Given the description of an element on the screen output the (x, y) to click on. 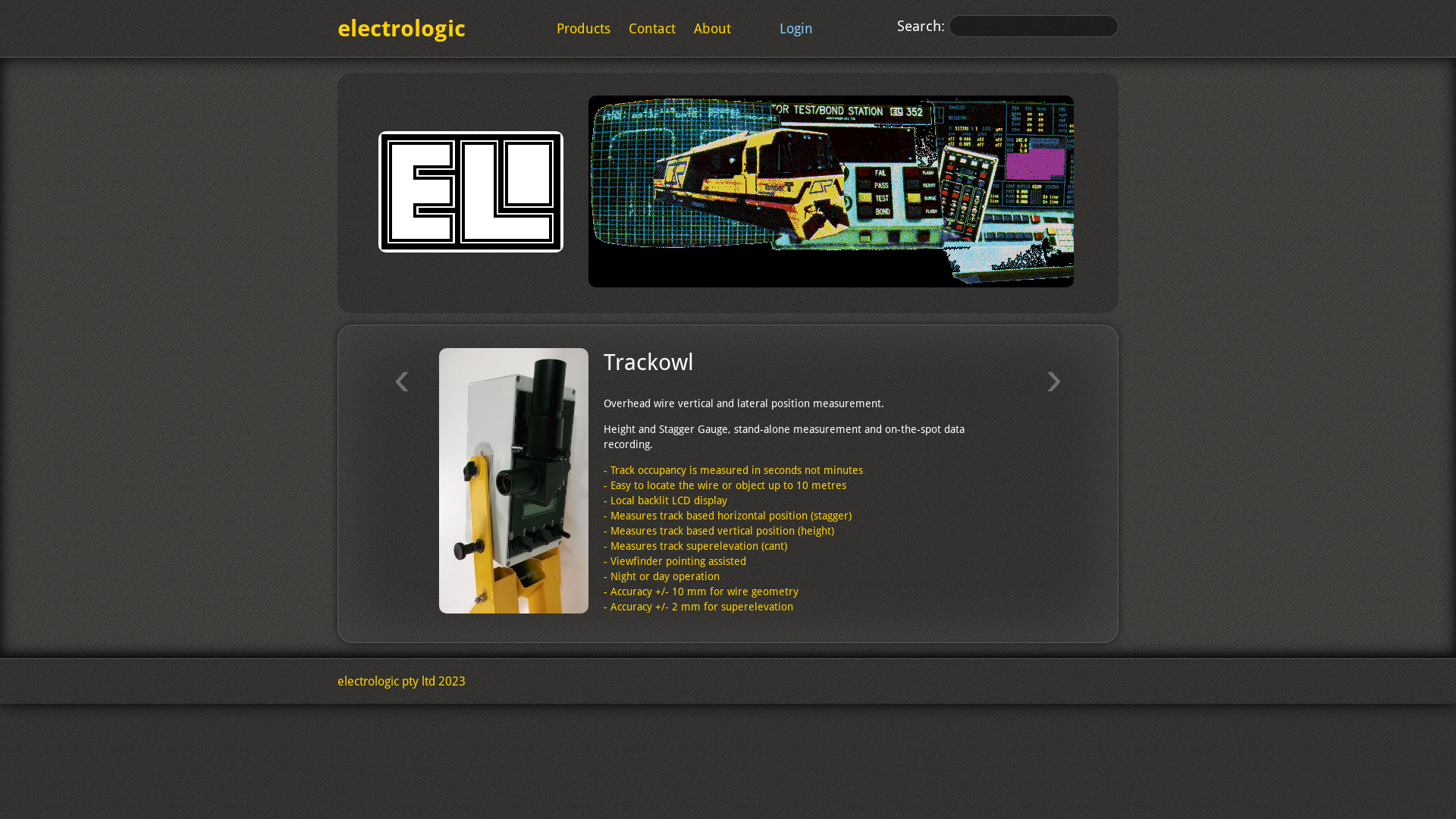
Contact Element type: text (651, 27)
Login Element type: text (796, 27)
electrologic Element type: text (401, 28)
Trackowl Element type: text (648, 361)
About Element type: text (712, 27)
Hose Tester Element type: text (1377, 361)
Rail Stress Meter Element type: text (105, 361)
Products Element type: text (583, 27)
